Given the description of an element on the screen output the (x, y) to click on. 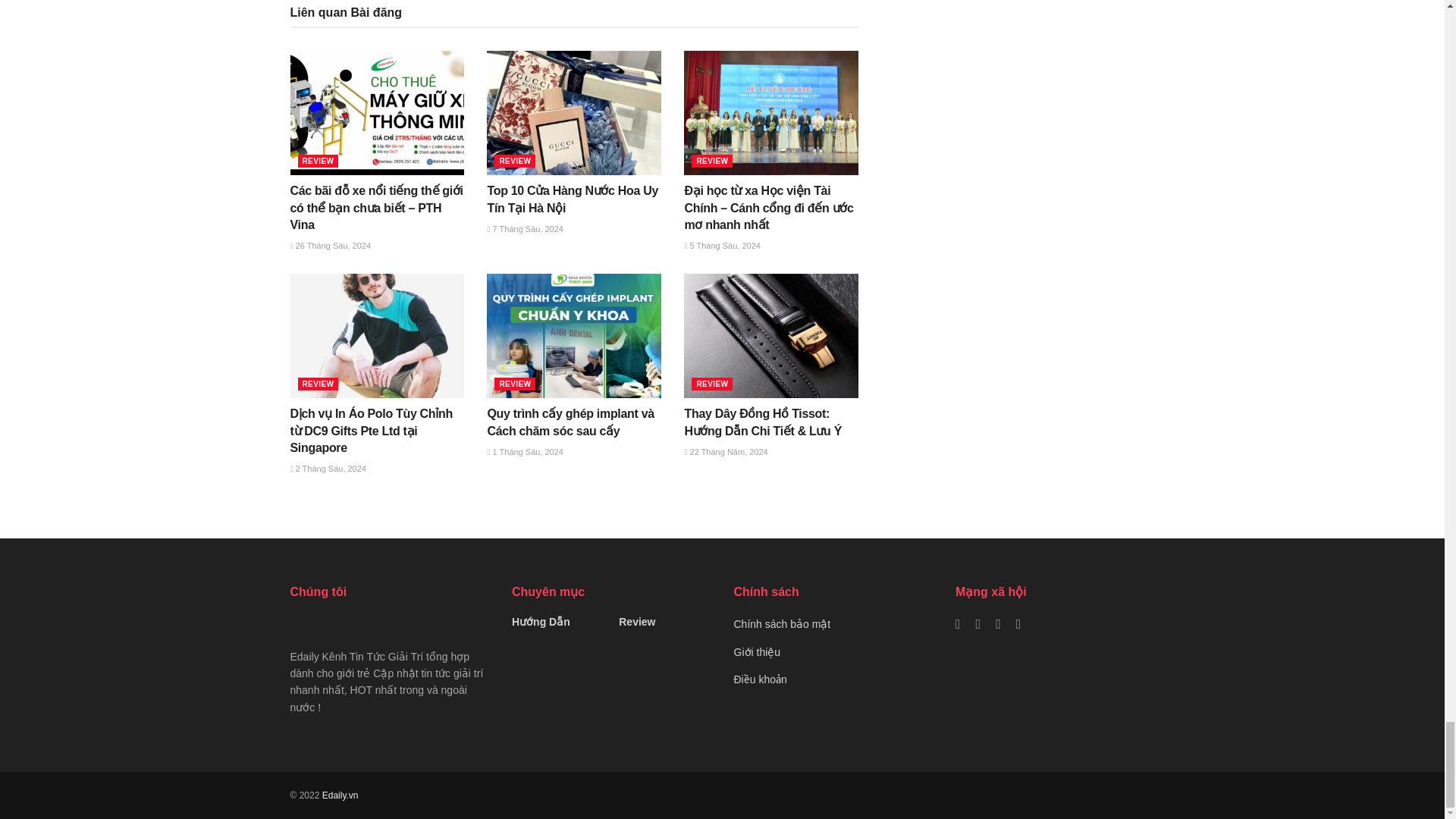
REVIEW (711, 160)
Edaily (339, 795)
REVIEW (317, 383)
REVIEW (515, 160)
REVIEW (317, 160)
